Given the description of an element on the screen output the (x, y) to click on. 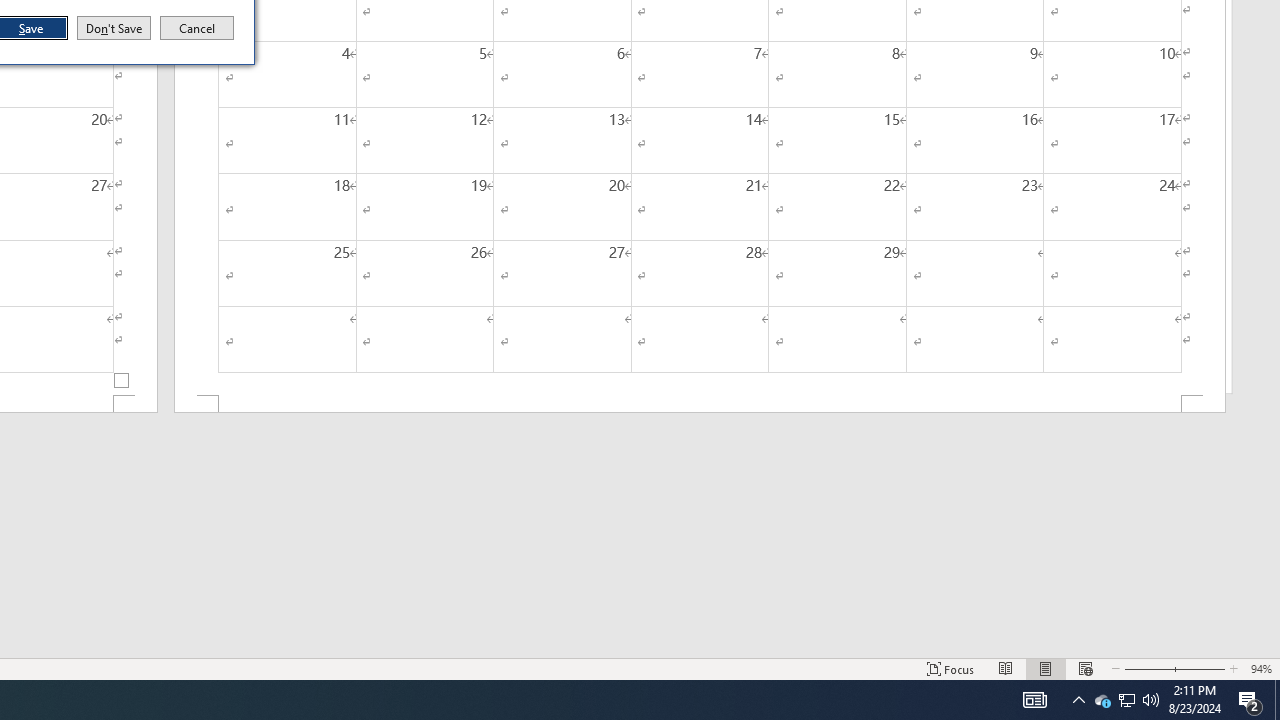
Footer -Section 2- (700, 404)
